Given the description of an element on the screen output the (x, y) to click on. 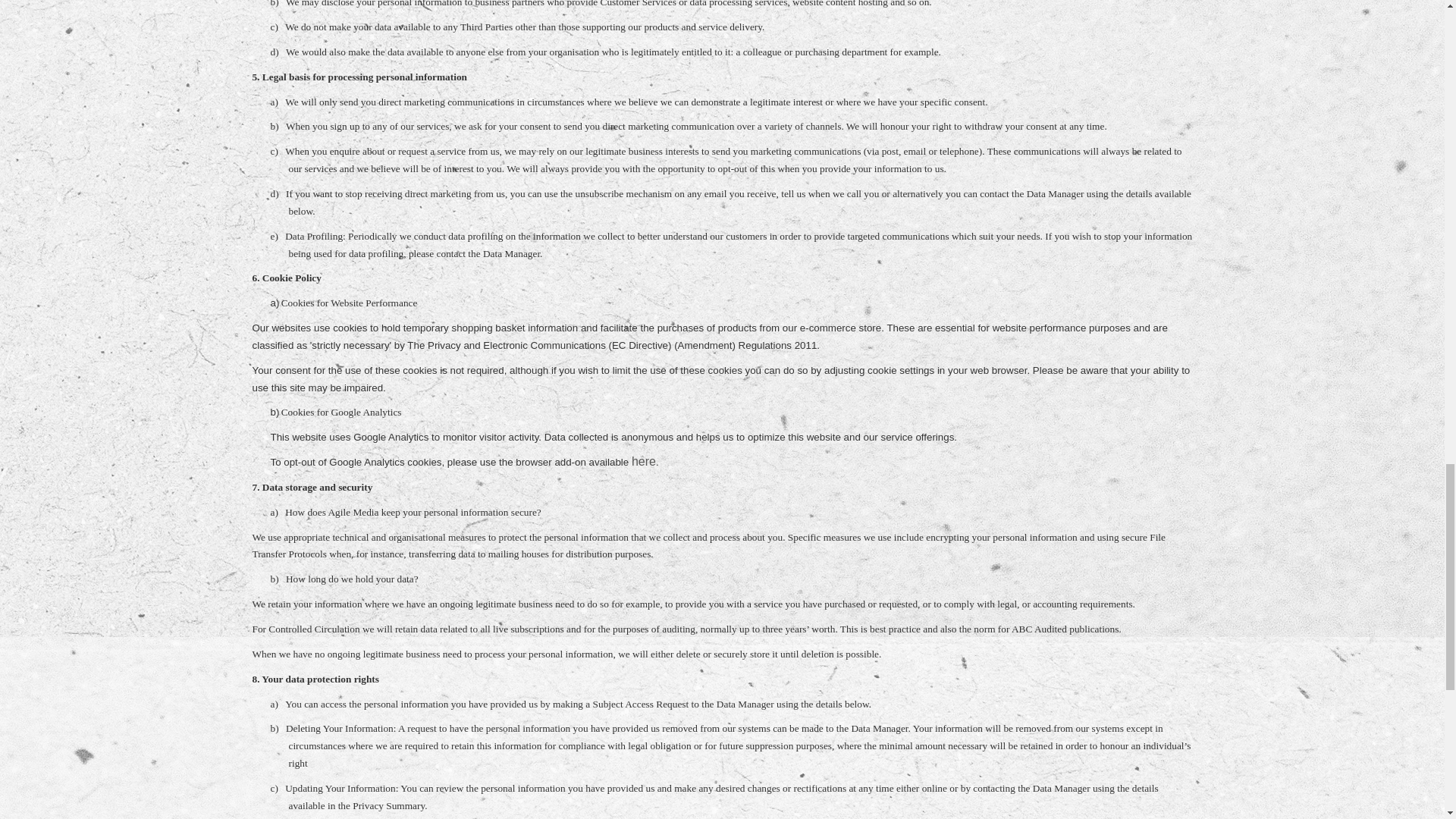
here (643, 461)
